Given the description of an element on the screen output the (x, y) to click on. 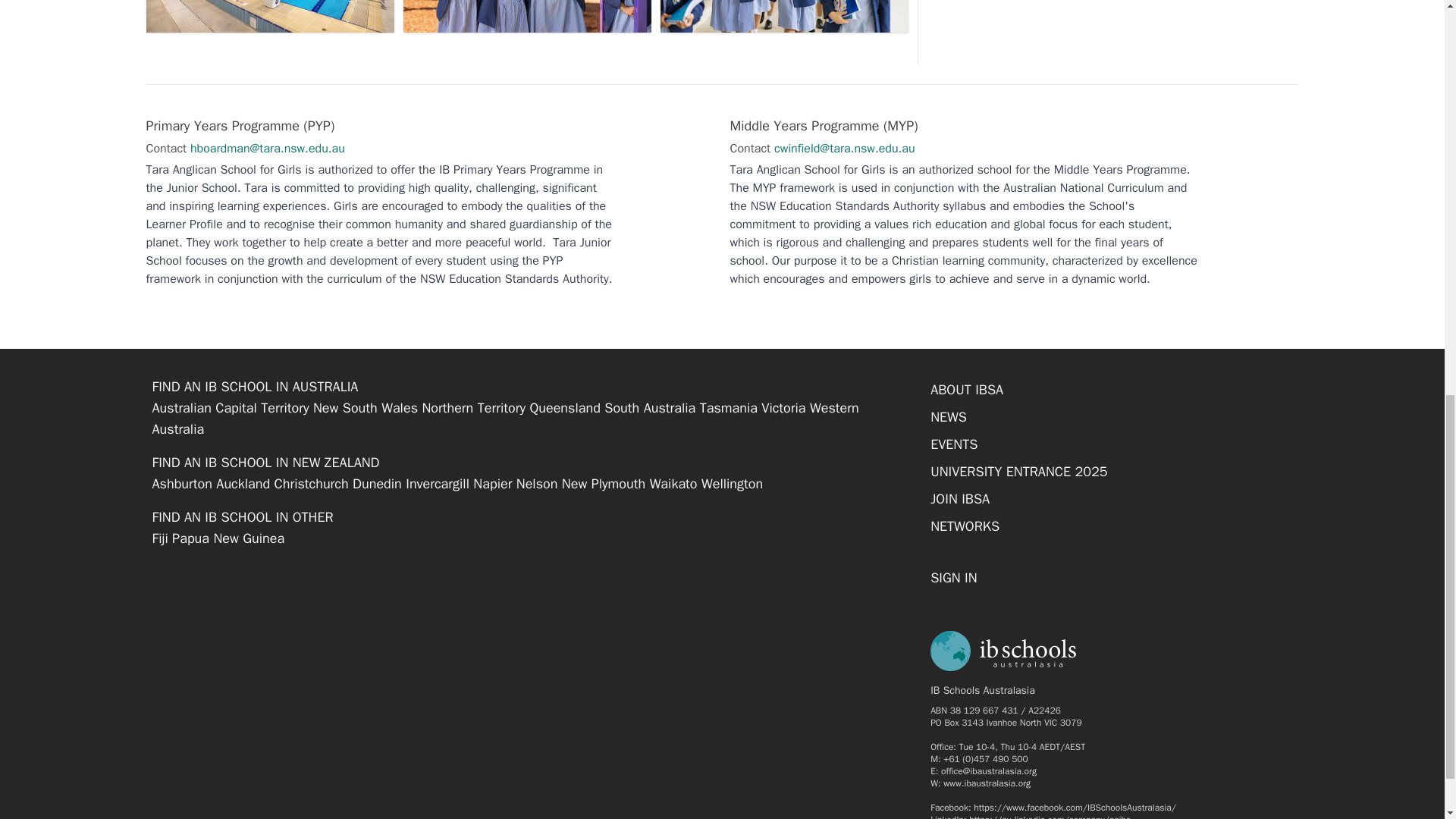
New South Wales (365, 407)
Northern Territory (473, 407)
Western Australia (505, 418)
South Australia (649, 407)
Christchurch (312, 483)
Queensland (564, 407)
Australian Capital Territory (229, 407)
Tasmania (728, 407)
Victoria (783, 407)
Ashburton (181, 483)
Auckland (242, 483)
